Given the description of an element on the screen output the (x, y) to click on. 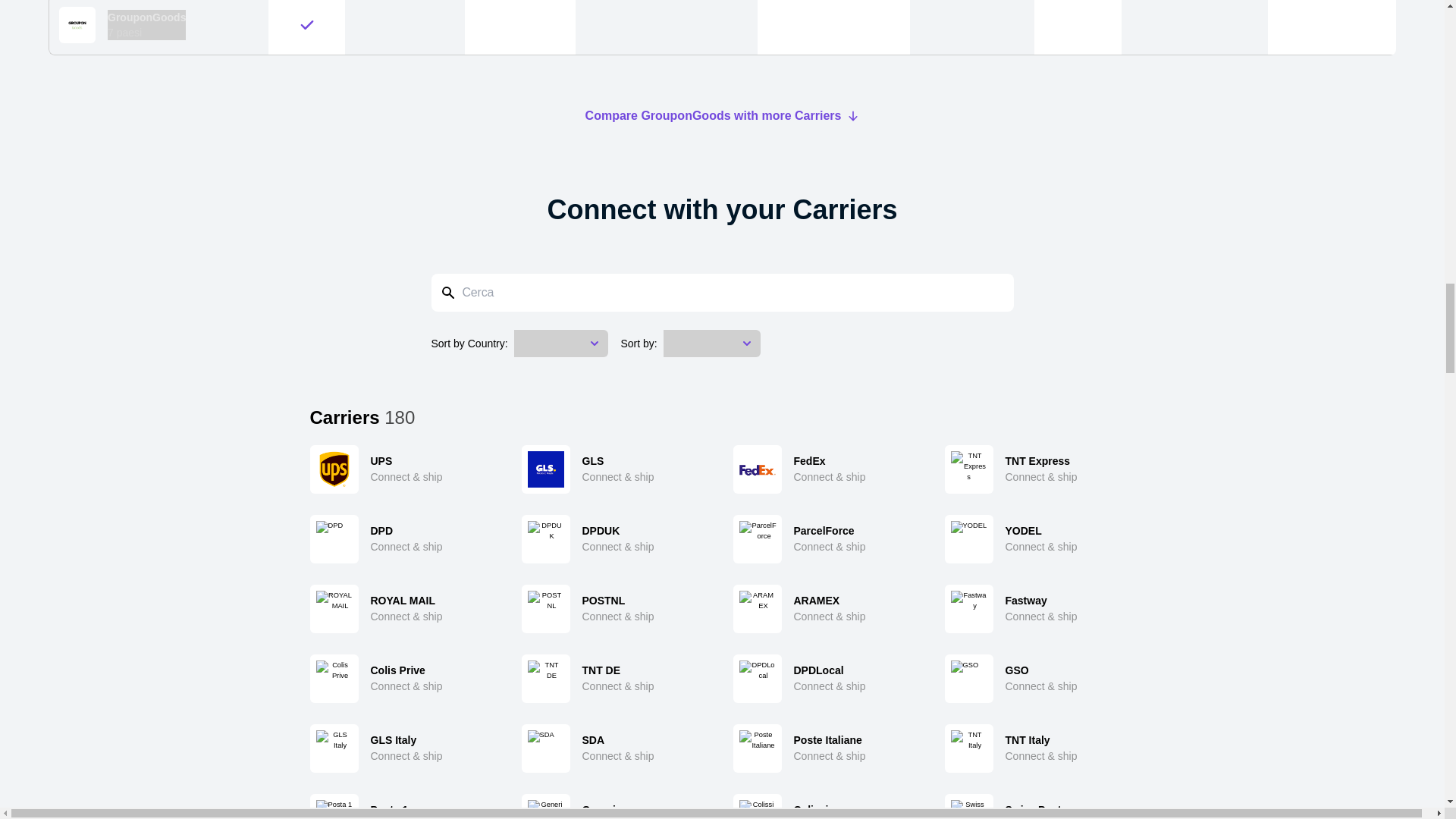
tnt italy (1039, 748)
dpdlocal (827, 678)
fastway (1039, 608)
gso (1039, 678)
gls italy (403, 748)
poste italiane (827, 748)
fedex (827, 469)
ups (403, 469)
royal mail (403, 608)
dpduk (616, 539)
